Given the description of an element on the screen output the (x, y) to click on. 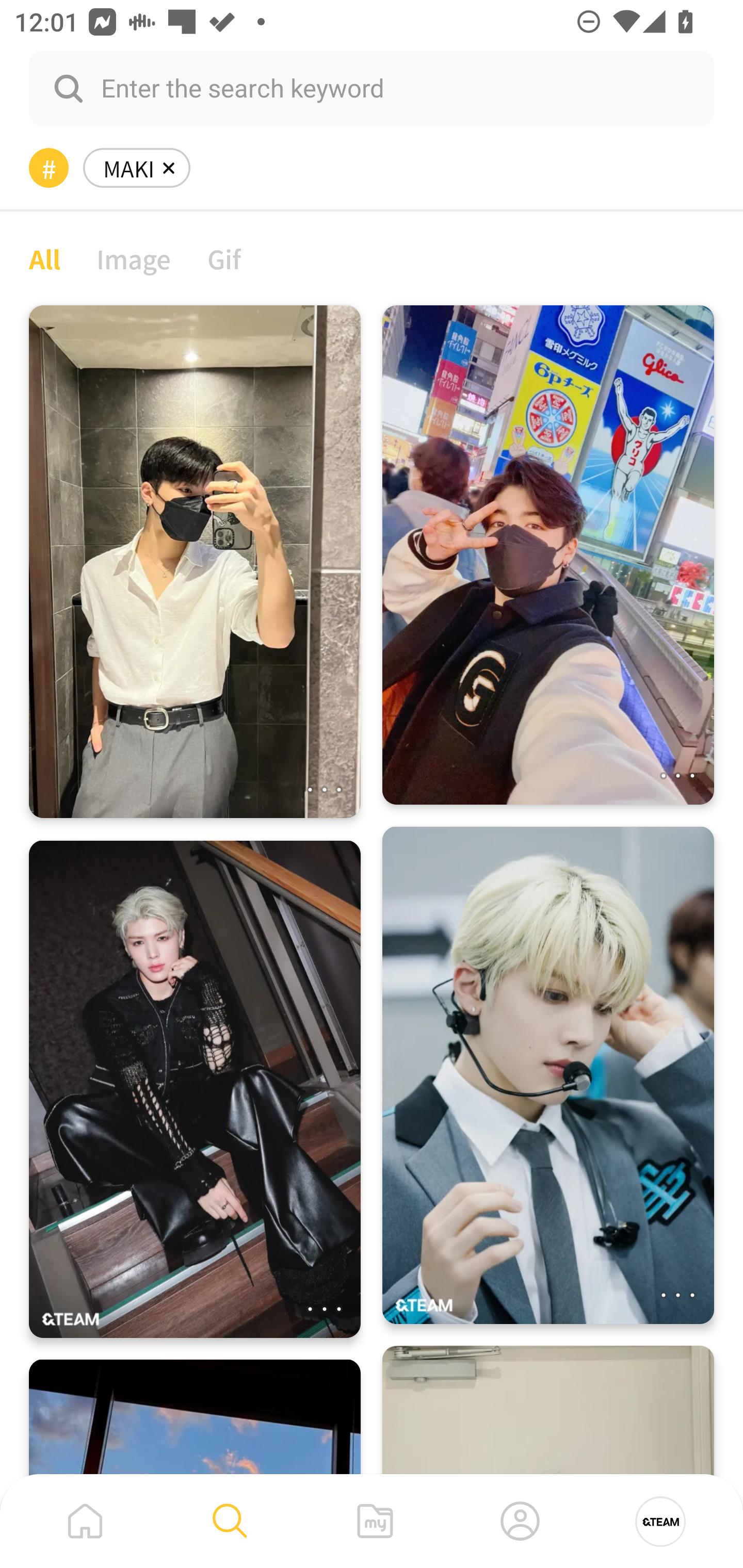
All (44, 257)
Image (133, 257)
Gif (223, 257)
